Given the description of an element on the screen output the (x, y) to click on. 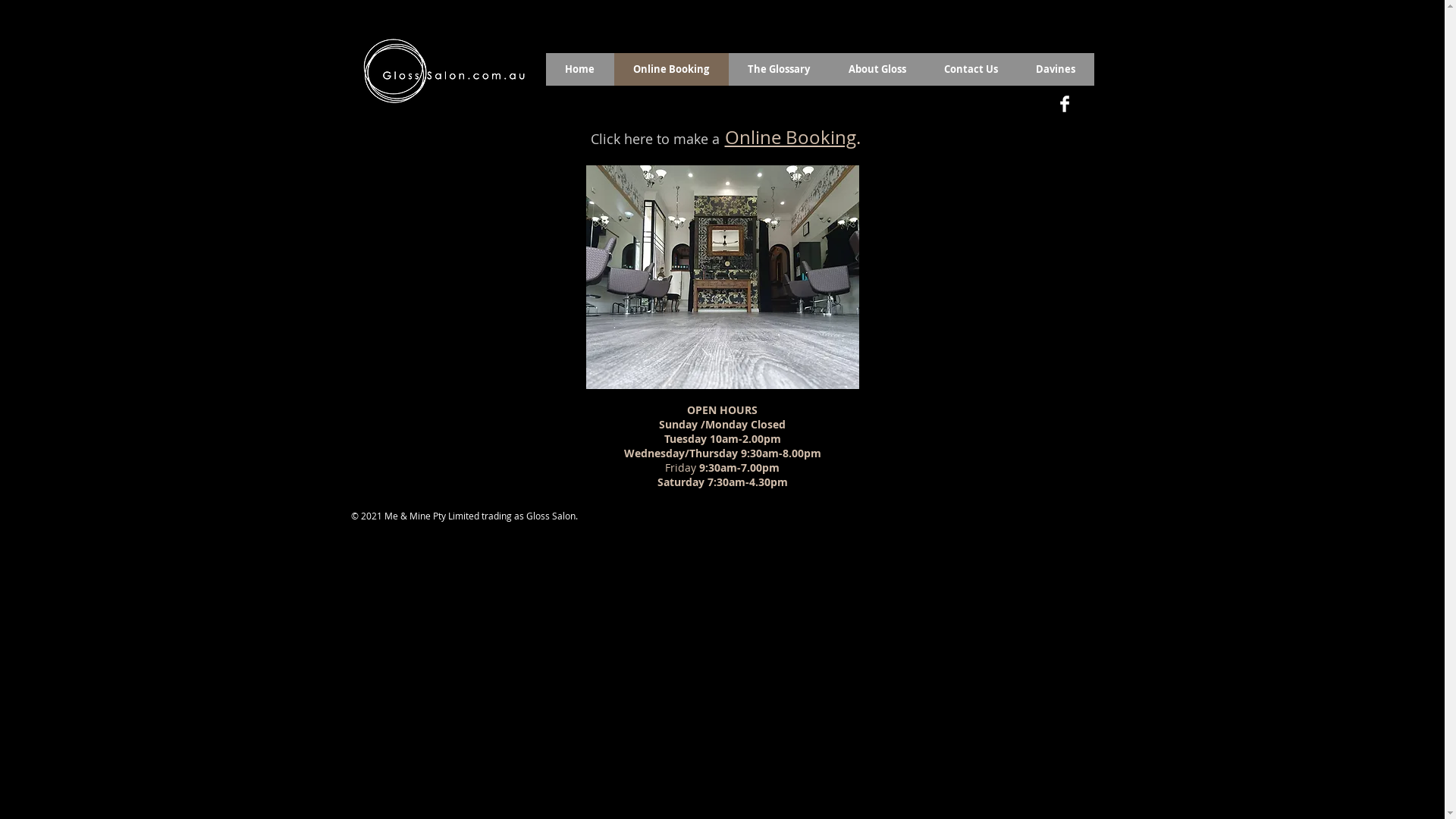
Davines Element type: text (1054, 69)
Home Element type: text (580, 69)
Gloss Salons logo BLACK Salon Only.png Element type: hover (441, 71)
Salon_FRONT.jpg Element type: hover (721, 277)
Contact Us Element type: text (970, 69)
Online Booking Element type: text (671, 69)
Online Booking Element type: text (790, 137)
About Gloss Element type: text (877, 69)
The Glossary Element type: text (778, 69)
